Given the description of an element on the screen output the (x, y) to click on. 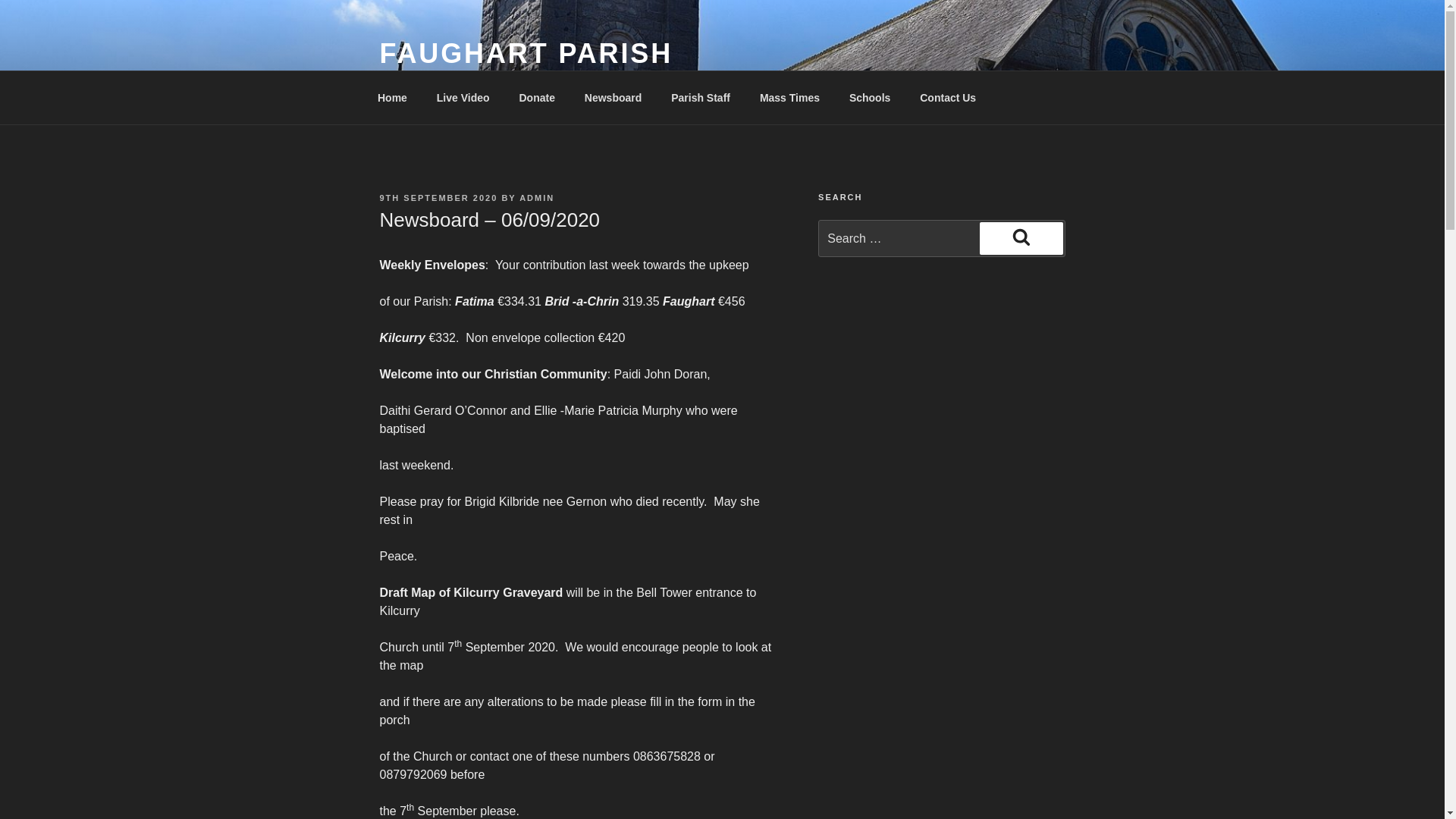
Mass Times (788, 97)
FAUGHART PARISH (525, 52)
Newsboard (611, 97)
9TH SEPTEMBER 2020 (437, 197)
Parish Staff (701, 97)
Search (1020, 237)
Donate (536, 97)
ADMIN (536, 197)
Contact Us (948, 97)
Home (392, 97)
Schools (868, 97)
Live Video (462, 97)
